Given the description of an element on the screen output the (x, y) to click on. 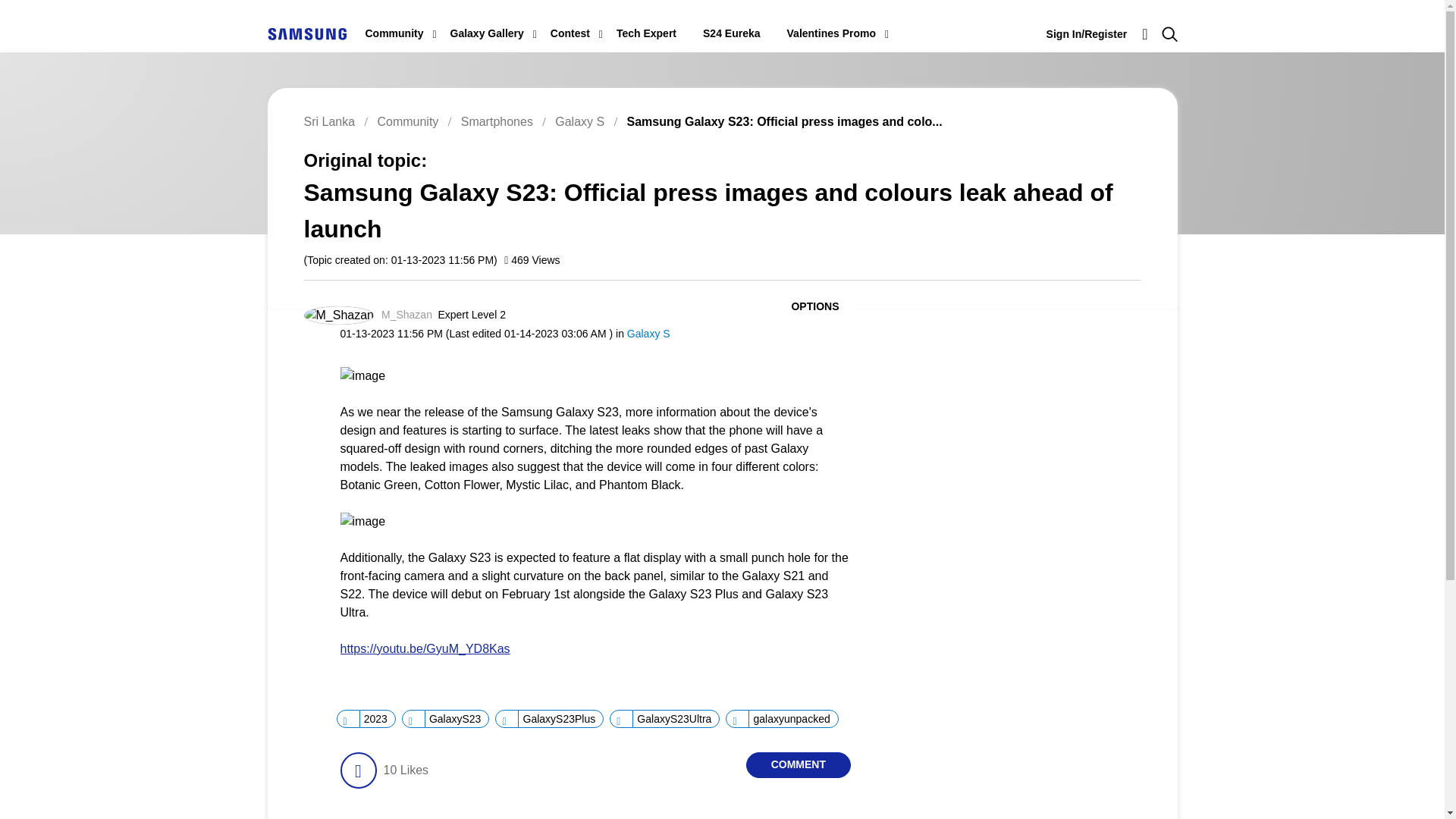
Galaxy Gallery (486, 33)
S24 Eureka (731, 33)
Community (394, 33)
Tech Expert (646, 33)
Galaxy Gallery (486, 33)
Community (394, 33)
Contest (569, 33)
Valentines Promo (831, 33)
Sri Lanka (306, 33)
Contest (569, 33)
